Given the description of an element on the screen output the (x, y) to click on. 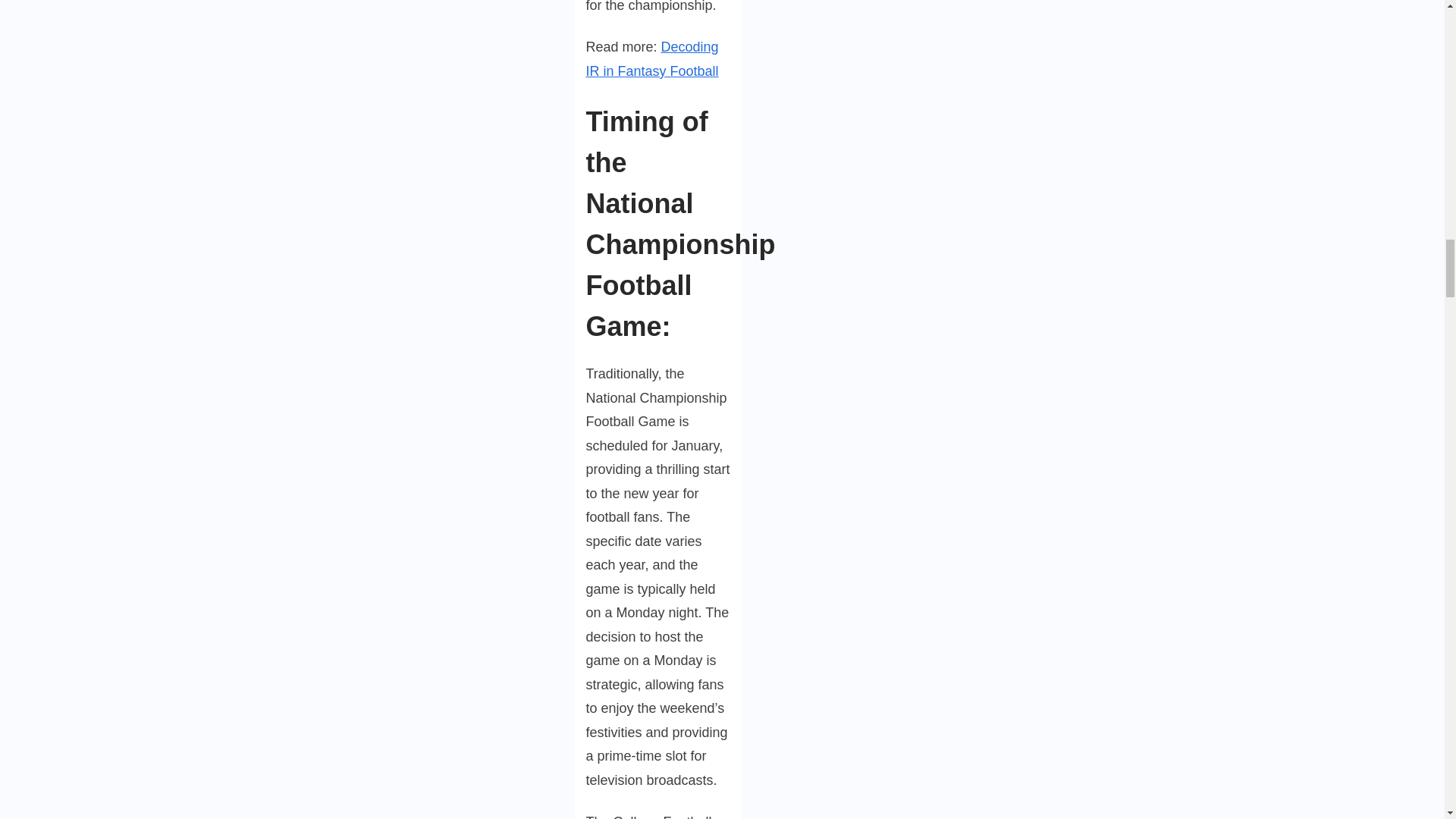
Decoding IR in Fantasy Football (651, 58)
